Given the description of an element on the screen output the (x, y) to click on. 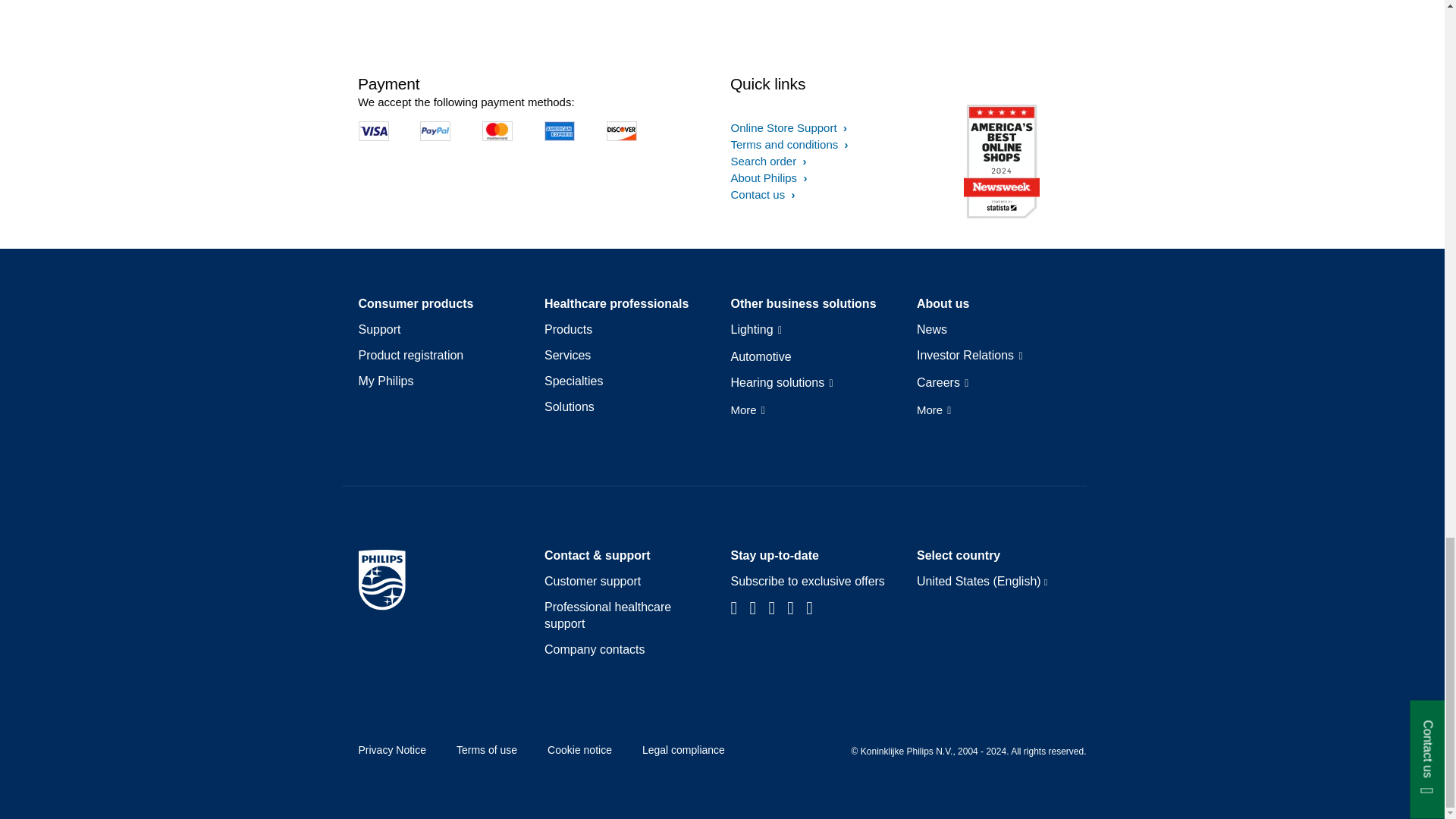
Support (379, 329)
Product registration (410, 355)
Healthcare professionals (616, 303)
Consumer products (415, 303)
My Philips (385, 381)
